Given the description of an element on the screen output the (x, y) to click on. 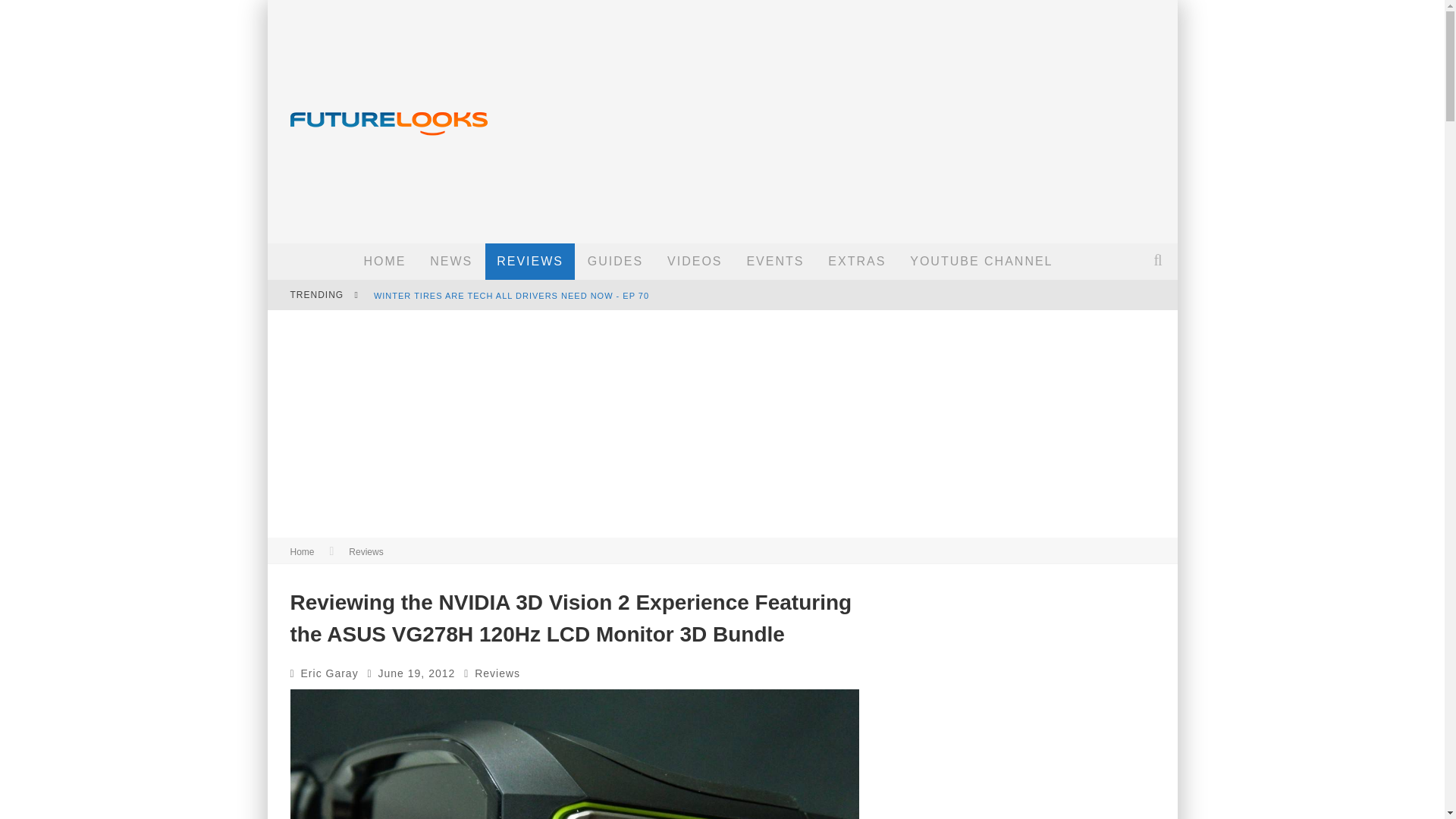
NEWS (451, 261)
HOME (384, 261)
Winter Tires Are Tech ALL Drivers Need Now - EP 70 (511, 295)
REVIEWS (529, 261)
View all posts in Reviews (365, 552)
View all posts in Reviews (496, 673)
Advertisement (893, 113)
